Given the description of an element on the screen output the (x, y) to click on. 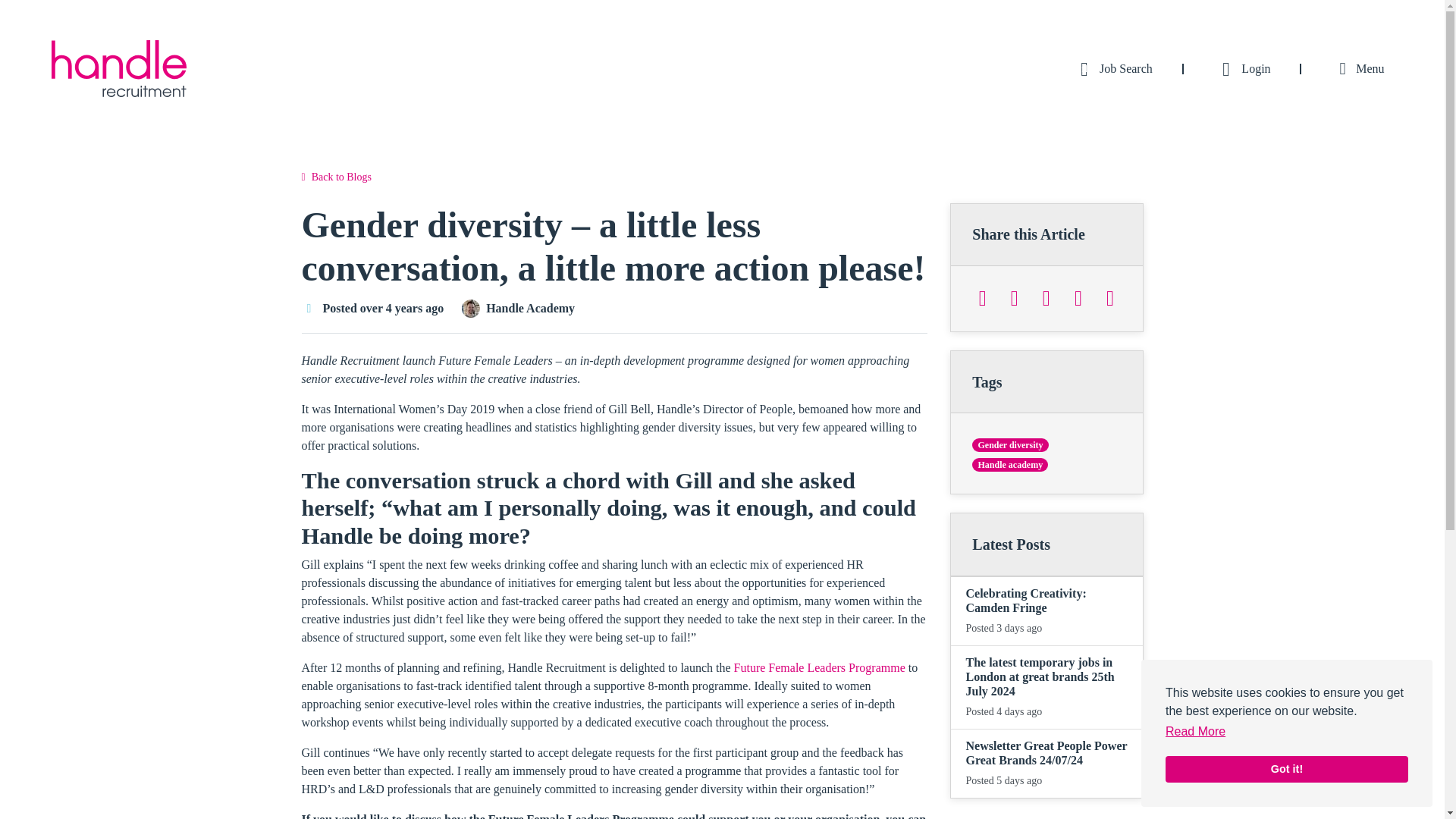
Handle academy (1010, 464)
Back to Blogs (336, 177)
Read More (1195, 731)
Author (470, 308)
Gender diversity (1010, 445)
Job Search (1111, 68)
Publish Date (309, 308)
Future Female Leaders Programme (819, 667)
Got it! (1286, 768)
Login (1242, 68)
Menu (1358, 67)
